Given the description of an element on the screen output the (x, y) to click on. 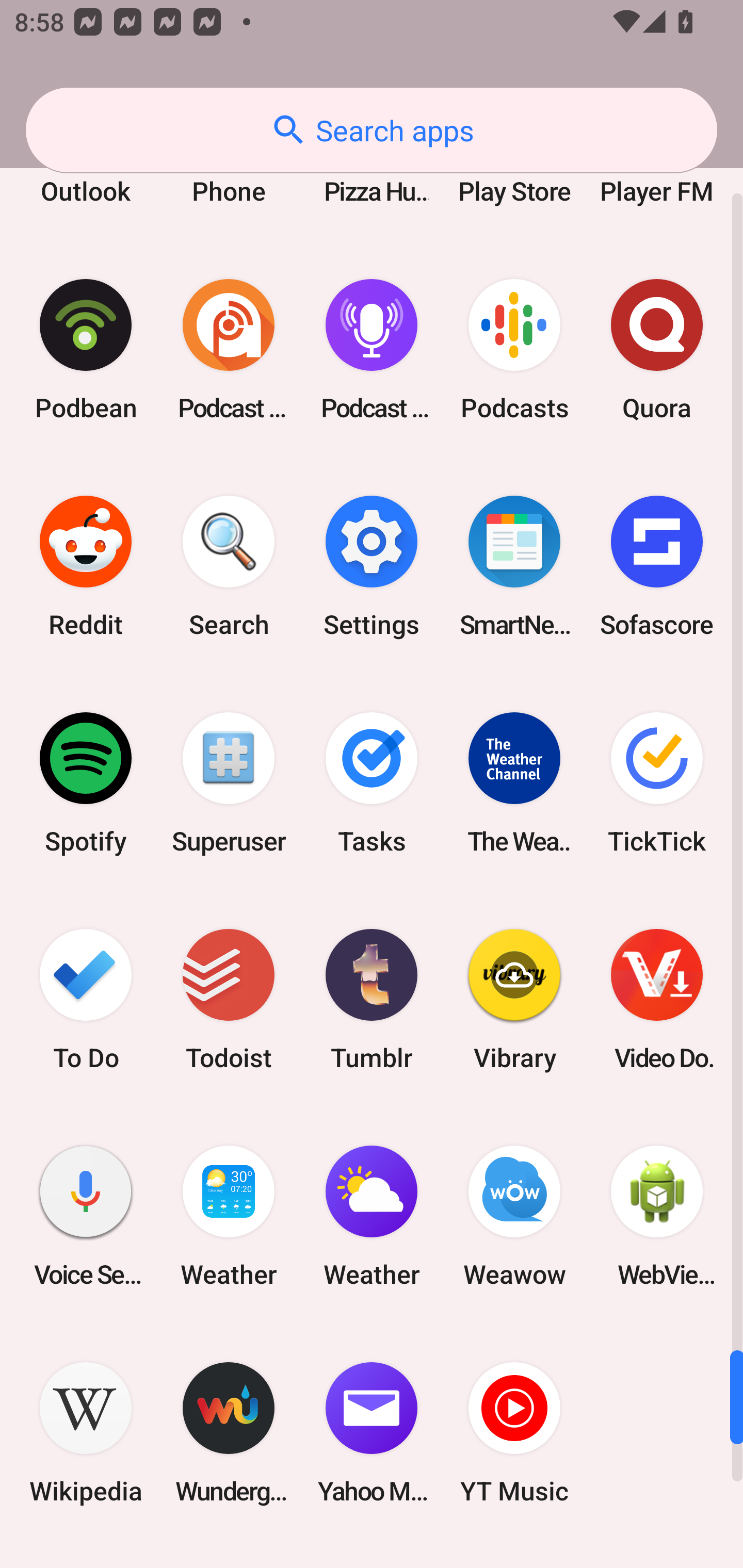
  Search apps (371, 130)
Outlook (85, 172)
Phone (228, 172)
Pizza Hut HK & Macau (371, 172)
Play Store (514, 172)
Player FM (656, 172)
Podbean (85, 349)
Podcast Addict (228, 349)
Podcast Player (371, 349)
Podcasts (514, 349)
Quora (656, 349)
Reddit (85, 565)
Search (228, 565)
Settings (371, 565)
SmartNews (514, 565)
Sofascore (656, 565)
Spotify (85, 782)
Superuser (228, 782)
Tasks (371, 782)
The Weather Channel (514, 782)
TickTick (656, 782)
To Do (85, 999)
Todoist (228, 999)
Tumblr (371, 999)
Vibrary (514, 999)
Video Downloader & Ace Player (656, 999)
Voice Search (85, 1216)
Weather (228, 1216)
Weather (371, 1216)
Weawow (514, 1216)
WebView Browser Tester (656, 1216)
Wikipedia (85, 1432)
Wunderground (228, 1432)
Yahoo Mail (371, 1432)
YT Music (514, 1432)
